Given the description of an element on the screen output the (x, y) to click on. 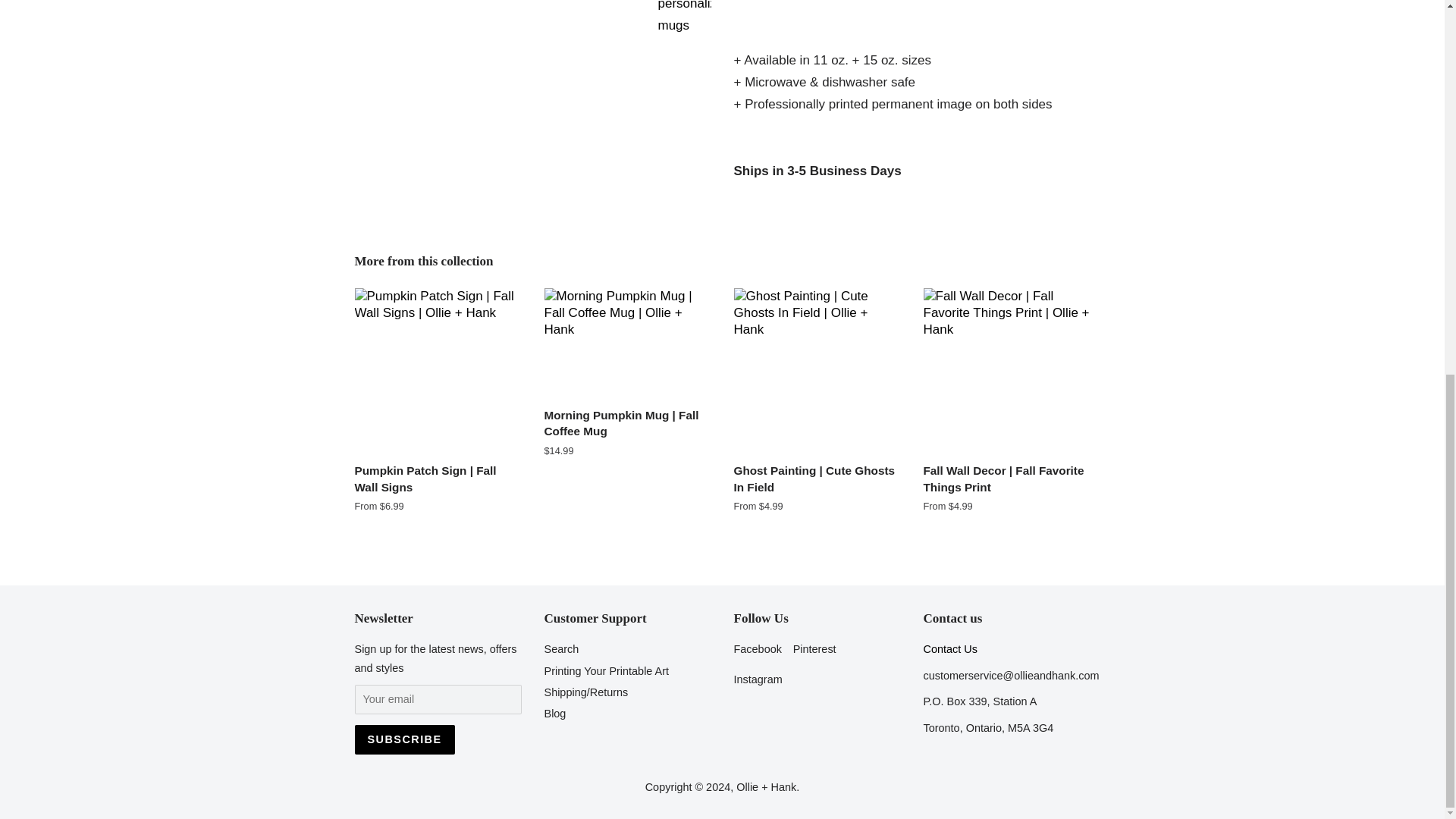
Subscribe (404, 739)
Contact (949, 648)
